Given the description of an element on the screen output the (x, y) to click on. 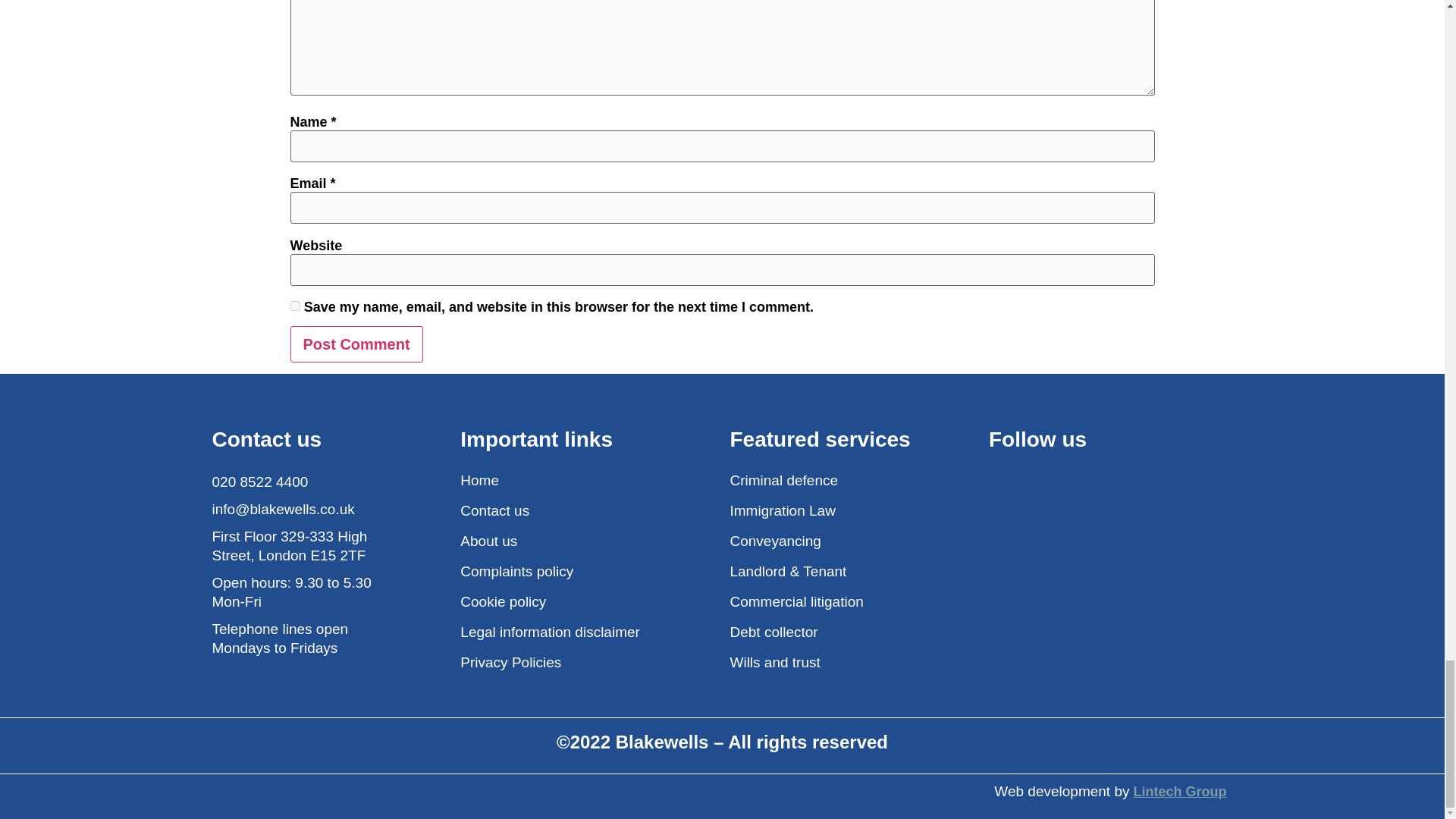
Home (587, 479)
020 8522 4400 (302, 481)
Cookie policy (587, 601)
Contact us (587, 510)
Post Comment (355, 343)
yes (294, 306)
About us (587, 540)
First Floor 329-333 High Street, London E15 2TF (302, 546)
Complaints policy (587, 570)
Post Comment (355, 343)
